Given the description of an element on the screen output the (x, y) to click on. 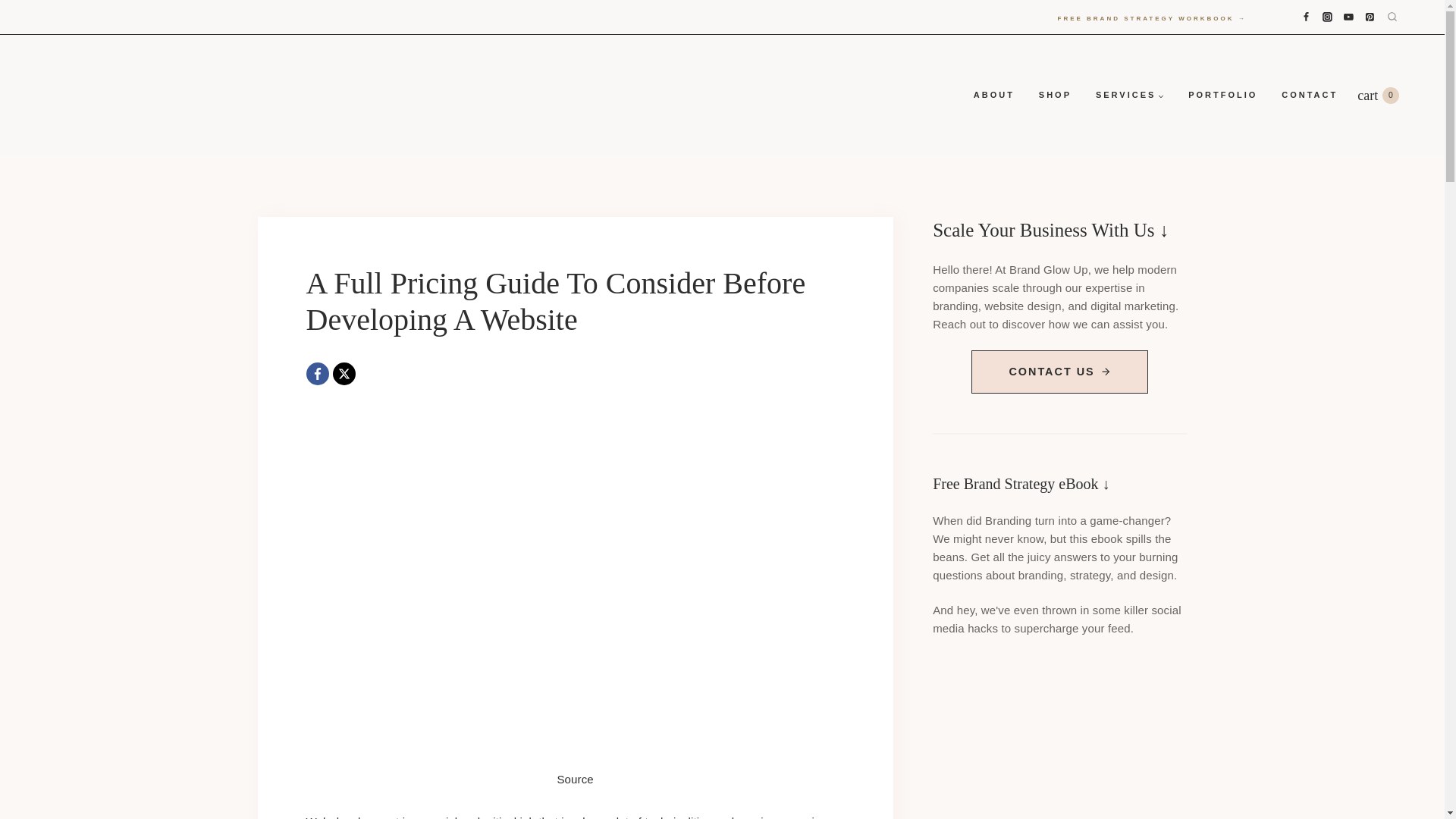
CONTACT (1309, 95)
Source (574, 779)
SERVICES (1129, 95)
PORTFOLIO (1222, 95)
SHOP (1054, 95)
ABOUT (993, 95)
